Given the description of an element on the screen output the (x, y) to click on. 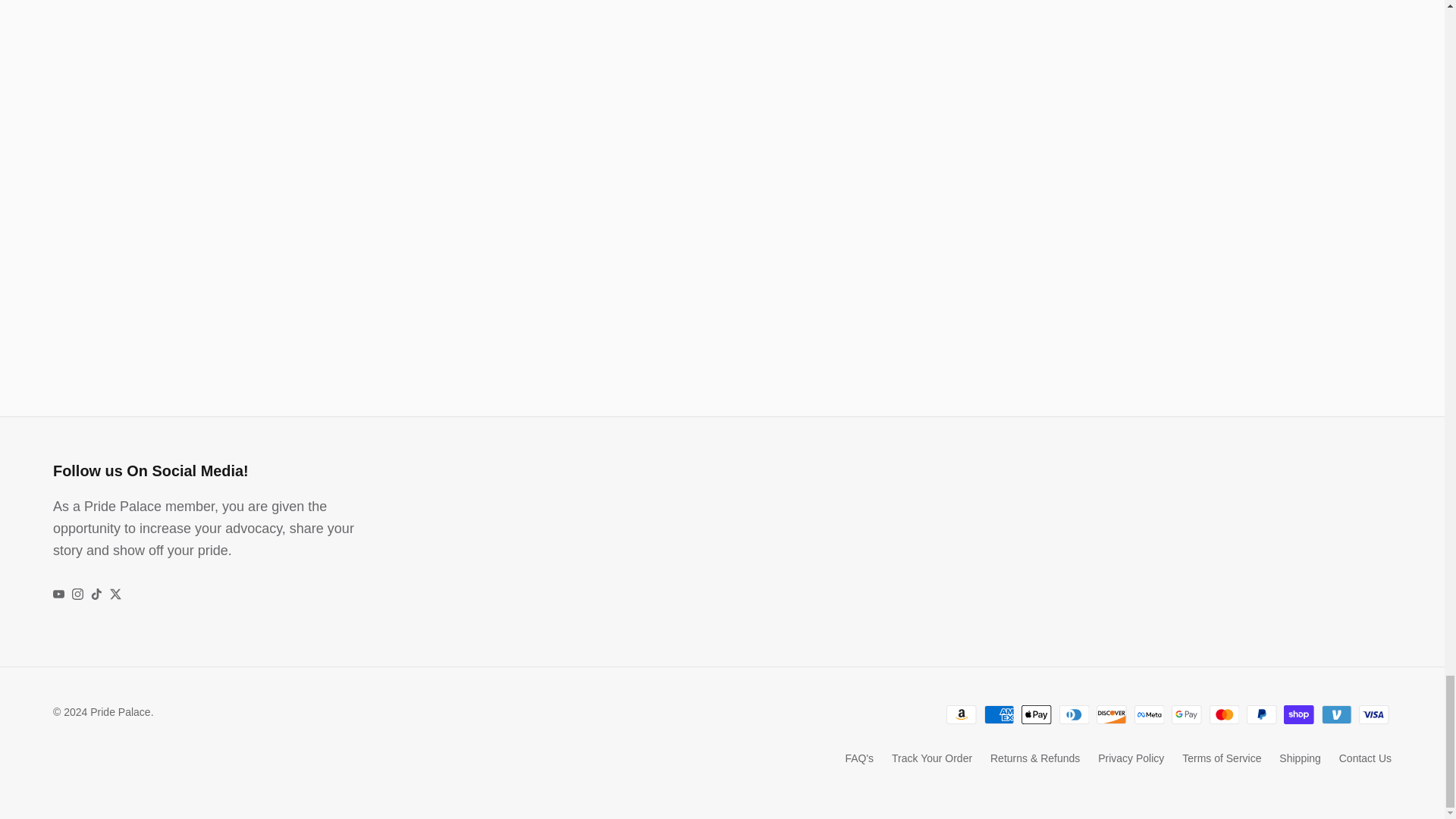
Apple Pay (1036, 714)
Pride Palace on TikTok (95, 593)
Pride Palace on Instagram (76, 593)
Diners Club (1074, 714)
American Express (999, 714)
Amazon (961, 714)
Meta Pay (1149, 714)
Mastercard (1224, 714)
Pride Palace on Twitter (115, 593)
Pride Palace on YouTube (58, 593)
